Given the description of an element on the screen output the (x, y) to click on. 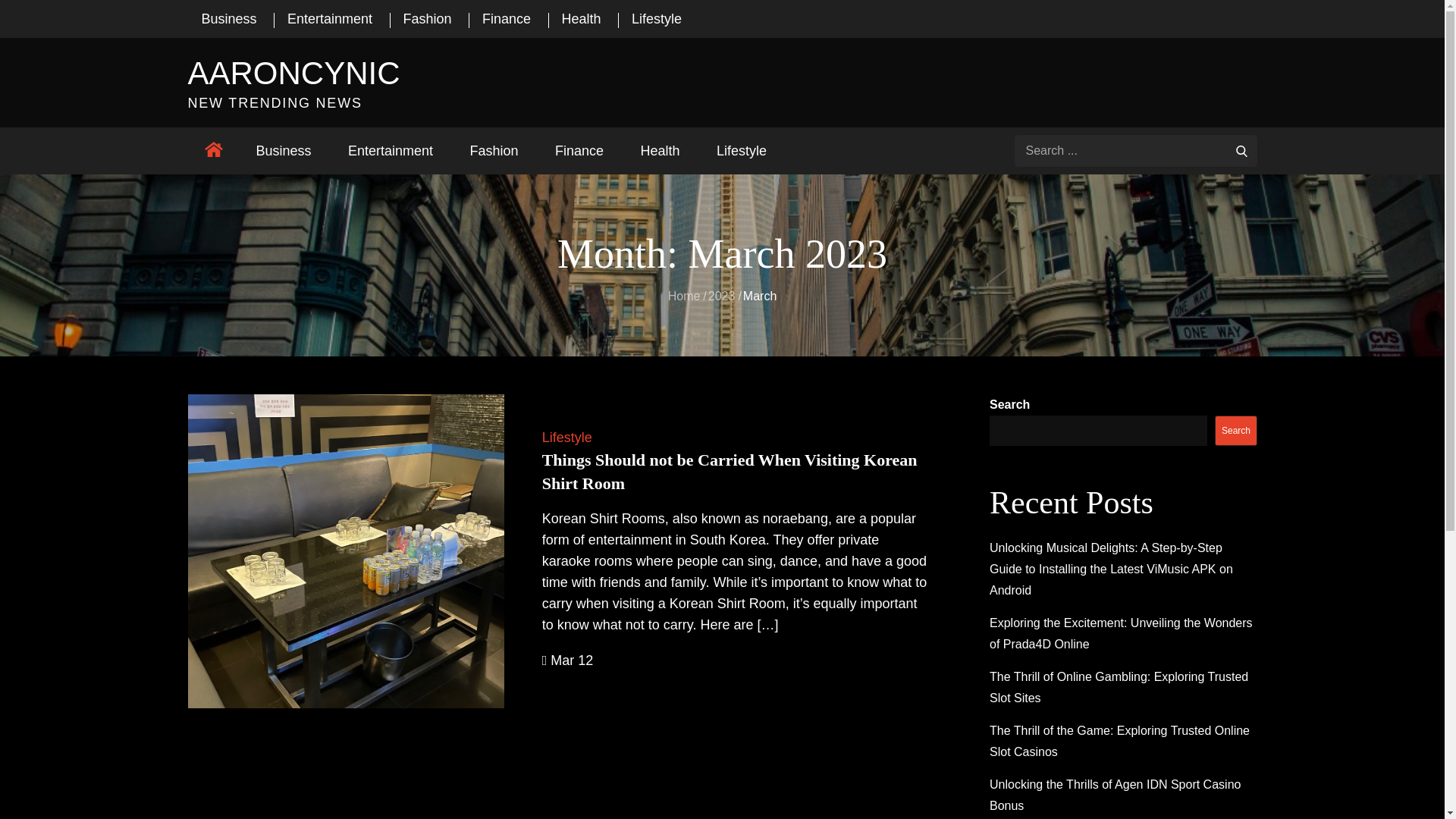
Search Element type: text (1241, 149)
Finance Element type: text (506, 18)
Business Element type: text (229, 18)
Search for: Element type: hover (1135, 150)
The Thrill of Online Gambling: Exploring Trusted Slot Sites Element type: text (1118, 687)
Unlocking the Thrills of Agen IDN Sport Casino Bonus Element type: text (1114, 795)
Finance Element type: text (579, 150)
Entertainment Element type: text (329, 18)
2023 Element type: text (721, 295)
Health Element type: text (581, 18)
Home Element type: text (684, 295)
Entertainment Element type: text (390, 150)
Business Element type: text (283, 150)
Things Should not be Carried When Visiting Korean Shirt Room Element type: text (729, 471)
Fashion Element type: text (427, 18)
Lifestyle Element type: text (567, 437)
Lifestyle Element type: text (741, 150)
Health Element type: text (660, 150)
Fashion Element type: text (494, 150)
Lifestyle Element type: text (656, 18)
AARONCYNIC Element type: text (294, 73)
Search Element type: text (1235, 430)
Mar 12 Element type: text (567, 660)
